Given the description of an element on the screen output the (x, y) to click on. 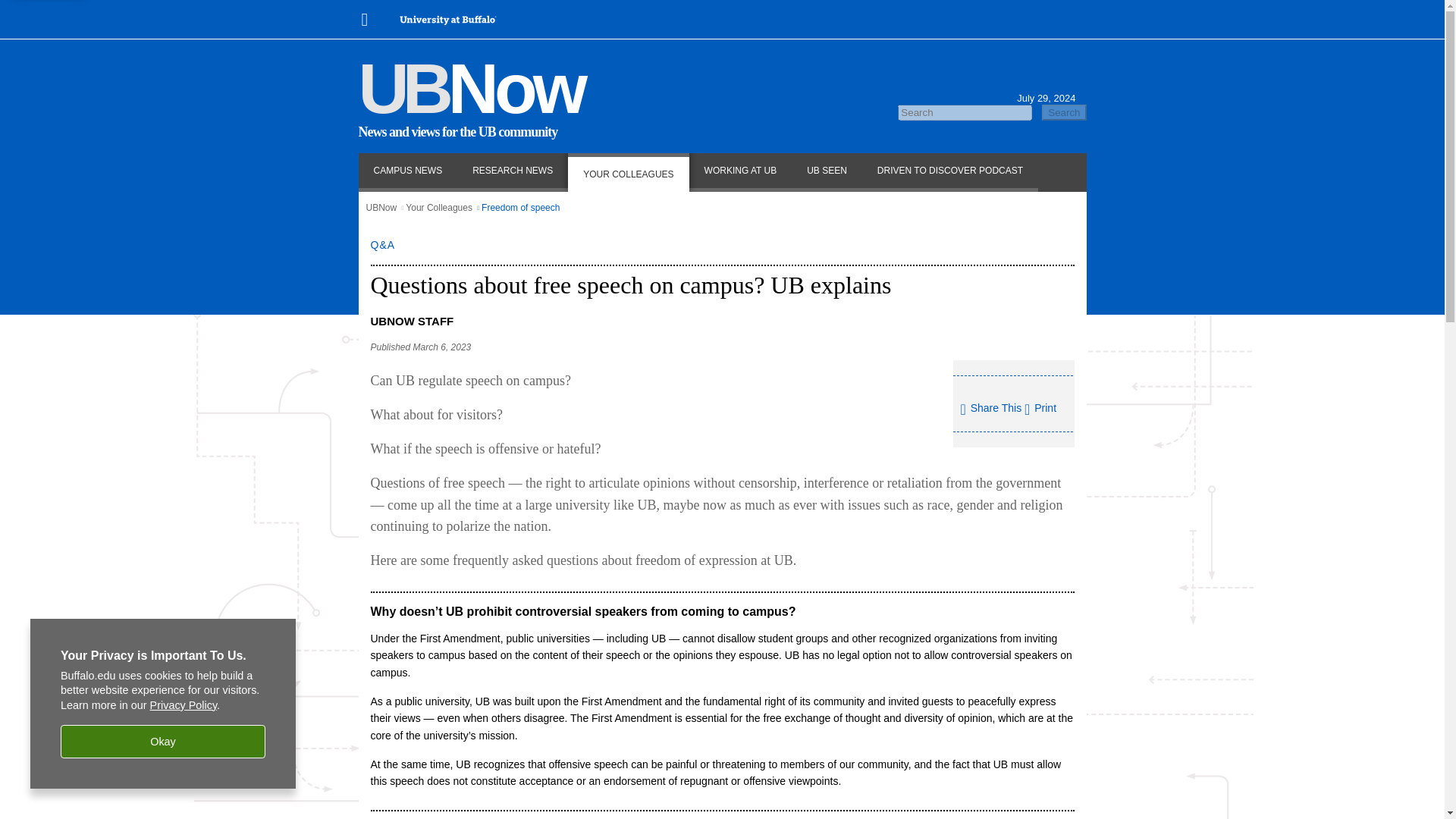
Privacy Policy (182, 705)
Print (1041, 408)
Okay (162, 741)
RESEARCH NEWS (512, 172)
CAMPUS NEWS (407, 172)
UBNow (470, 88)
WORKING AT UB (740, 172)
YOUR COLLEAGUES (627, 172)
Share This (990, 409)
Your Colleagues (438, 207)
Search (1064, 112)
UBNow (380, 207)
DRIVEN TO DISCOVER PODCAST (949, 172)
Search (1064, 112)
